Given the description of an element on the screen output the (x, y) to click on. 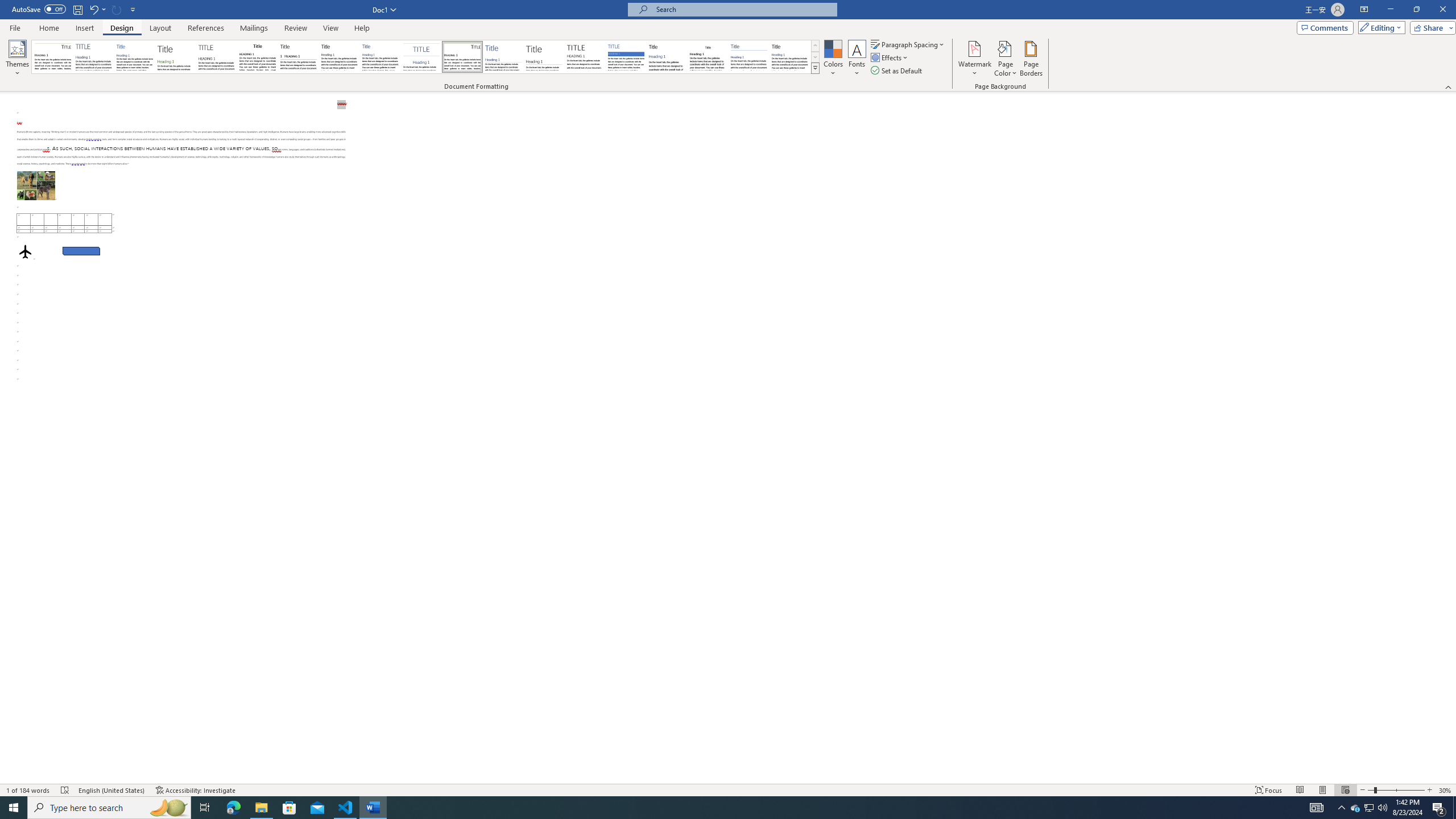
Set as Default (897, 69)
Watermark (974, 58)
Language English (United States) (111, 790)
Word 2003 (707, 56)
Zoom 30% (1445, 790)
Shaded (625, 56)
Word Count 1 of 184 words (28, 790)
Black & White (Capitalized) (216, 56)
Word 2010 (749, 56)
